Given the description of an element on the screen output the (x, y) to click on. 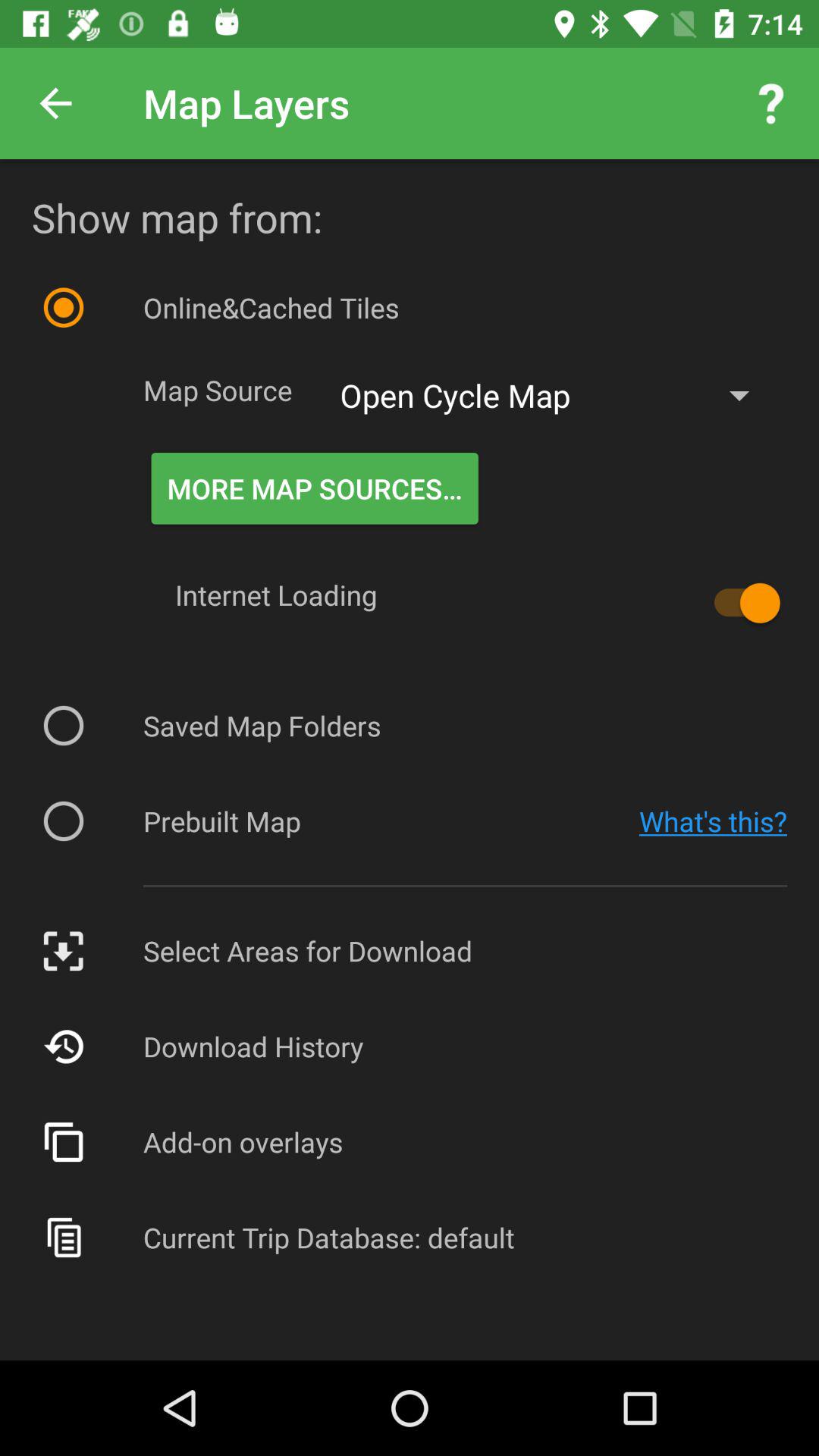
launch icon next to prebuilt map (713, 821)
